Given the description of an element on the screen output the (x, y) to click on. 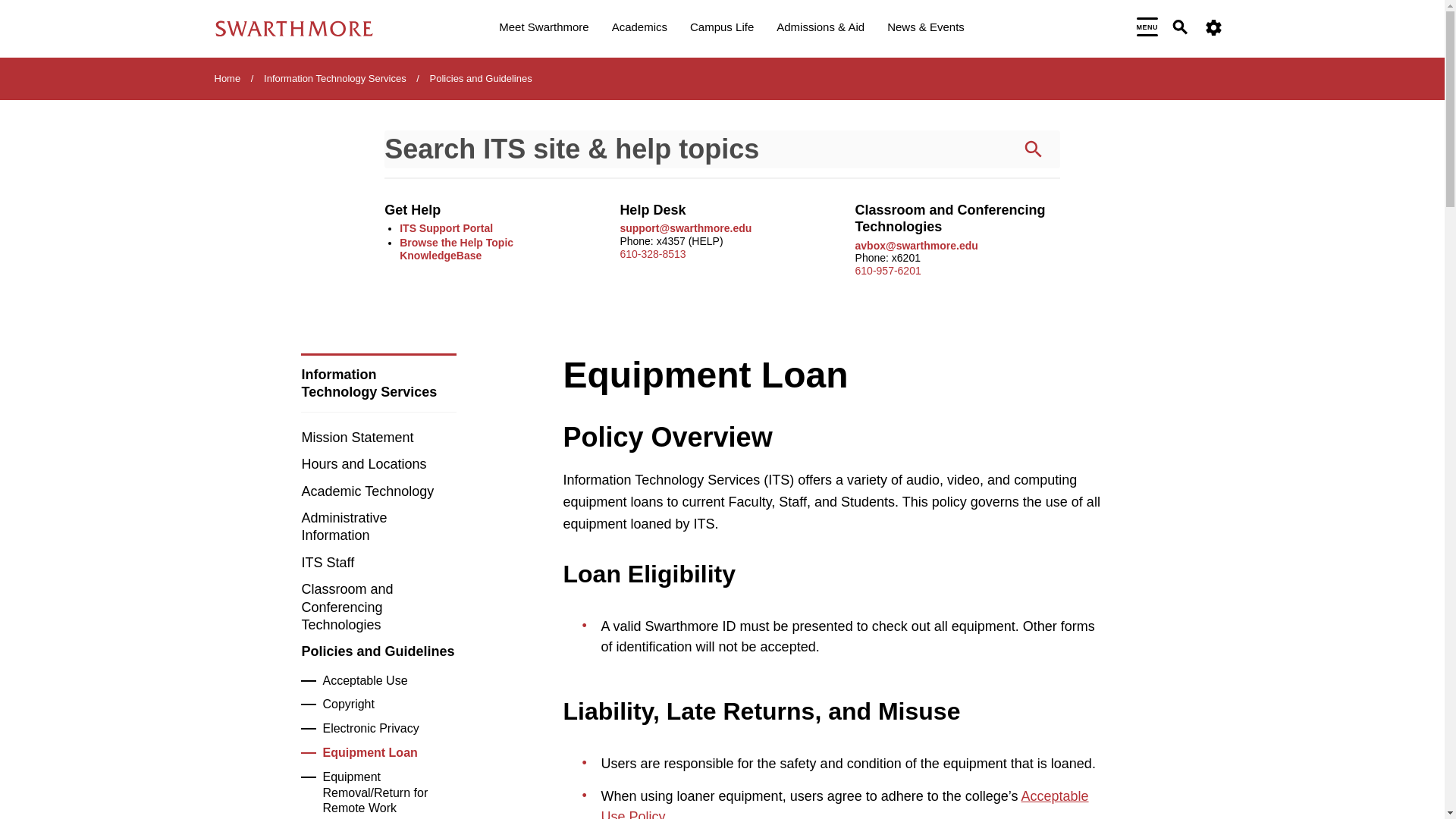
Meet Swarthmore (543, 28)
Academics (638, 28)
Campus Life (722, 28)
